Given the description of an element on the screen output the (x, y) to click on. 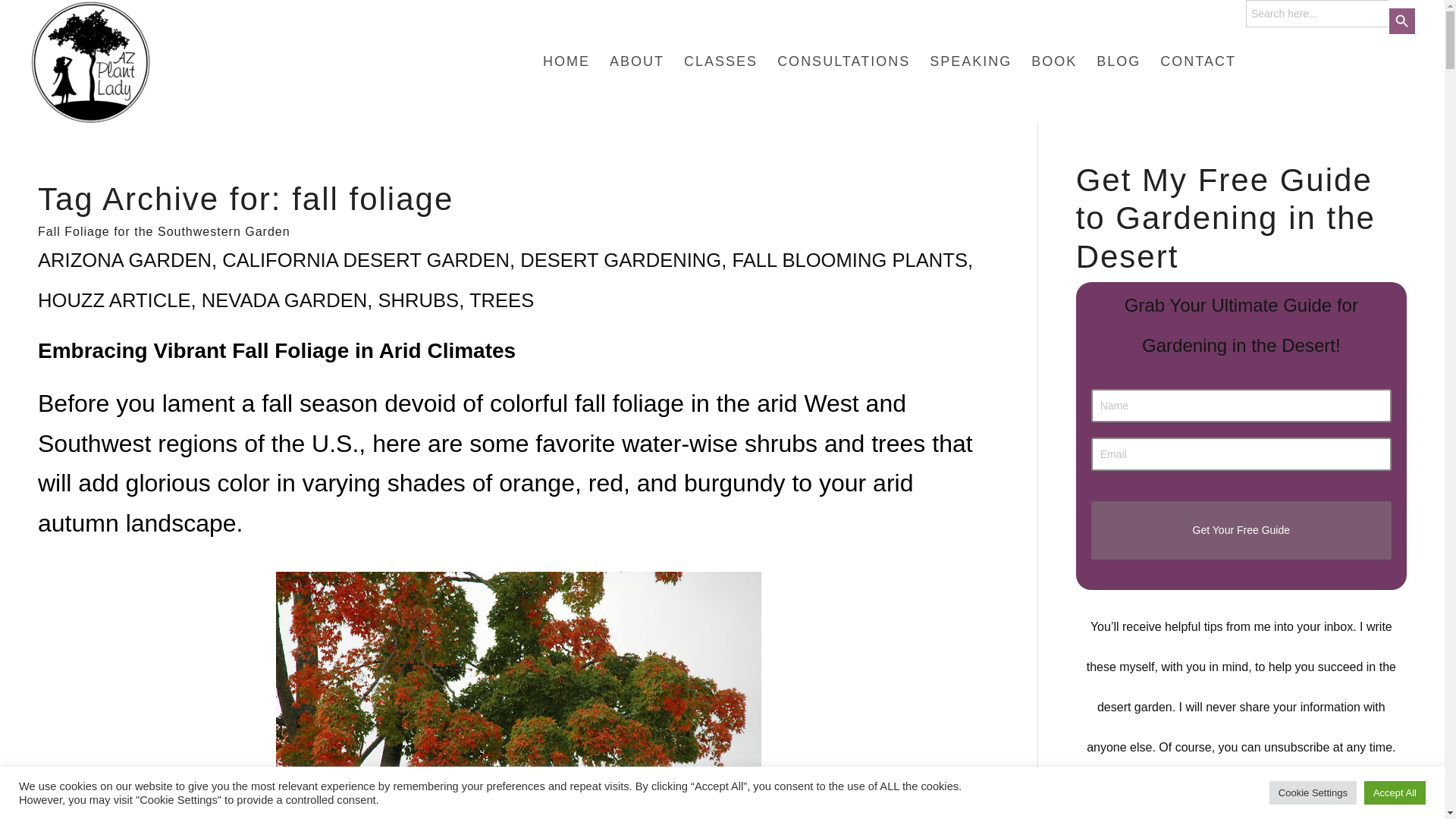
Search Button (1402, 21)
Get Your Free Guide (1240, 530)
SHRUBS (417, 300)
DESERT GARDENING (619, 260)
Permanent Link: Fall Foliage for the Southwestern Garden (163, 231)
Fall Foliage for the Southwestern Garden (163, 231)
FALL BLOOMING PLANTS (850, 260)
TREES (501, 300)
CALIFORNIA DESERT GARDEN (365, 260)
HOUZZ ARTICLE (113, 300)
